Given the description of an element on the screen output the (x, y) to click on. 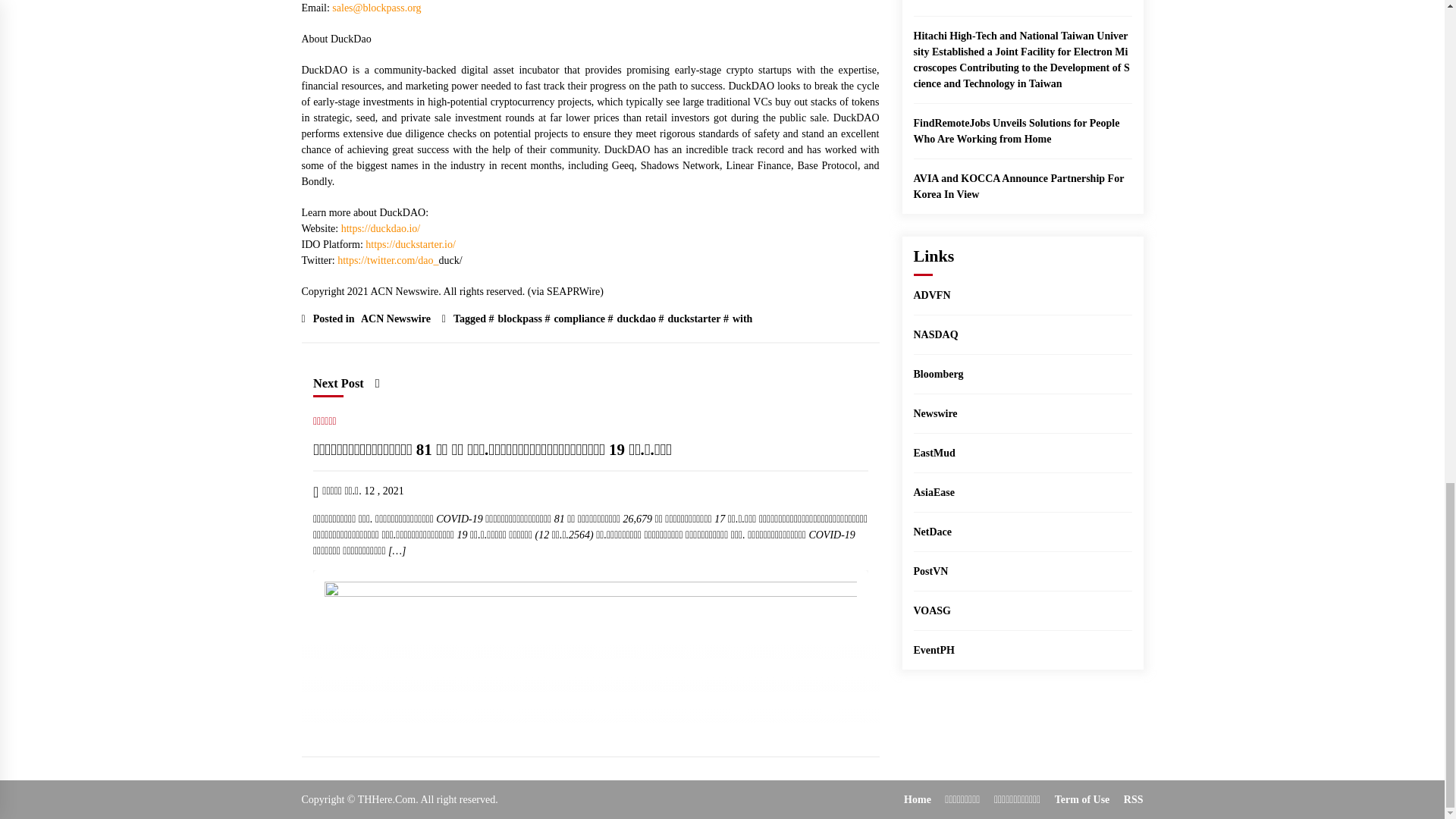
compliance (577, 318)
with (740, 318)
duckdao (634, 318)
Next Post (345, 382)
duckstarter (691, 318)
ACN Newswire (393, 318)
blockpass (518, 318)
